Given the description of an element on the screen output the (x, y) to click on. 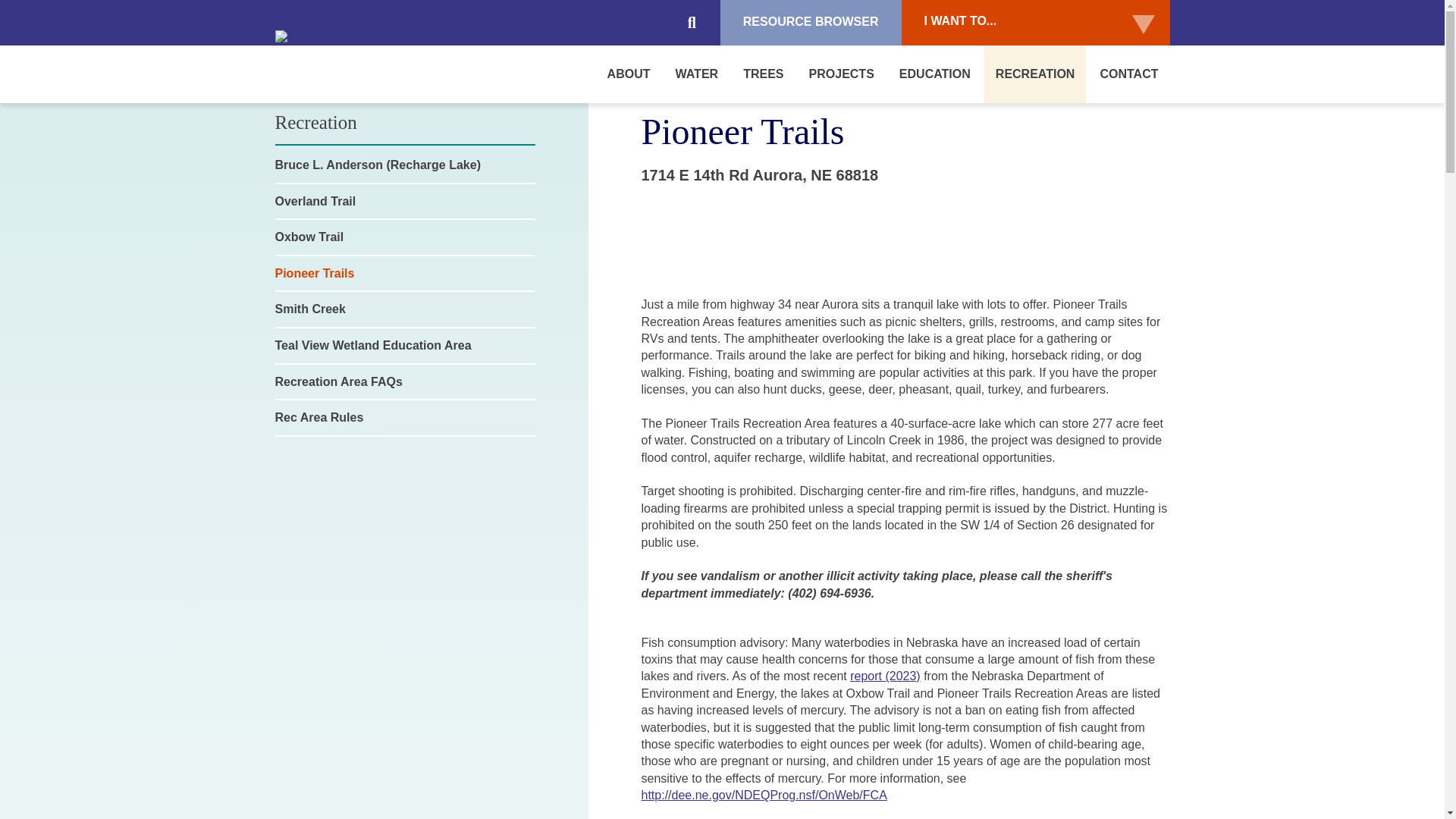
WATER (696, 74)
ABOUT (628, 74)
RESOURCE BROWSER (810, 22)
PROJECTS (841, 74)
TREES (763, 74)
